Given the description of an element on the screen output the (x, y) to click on. 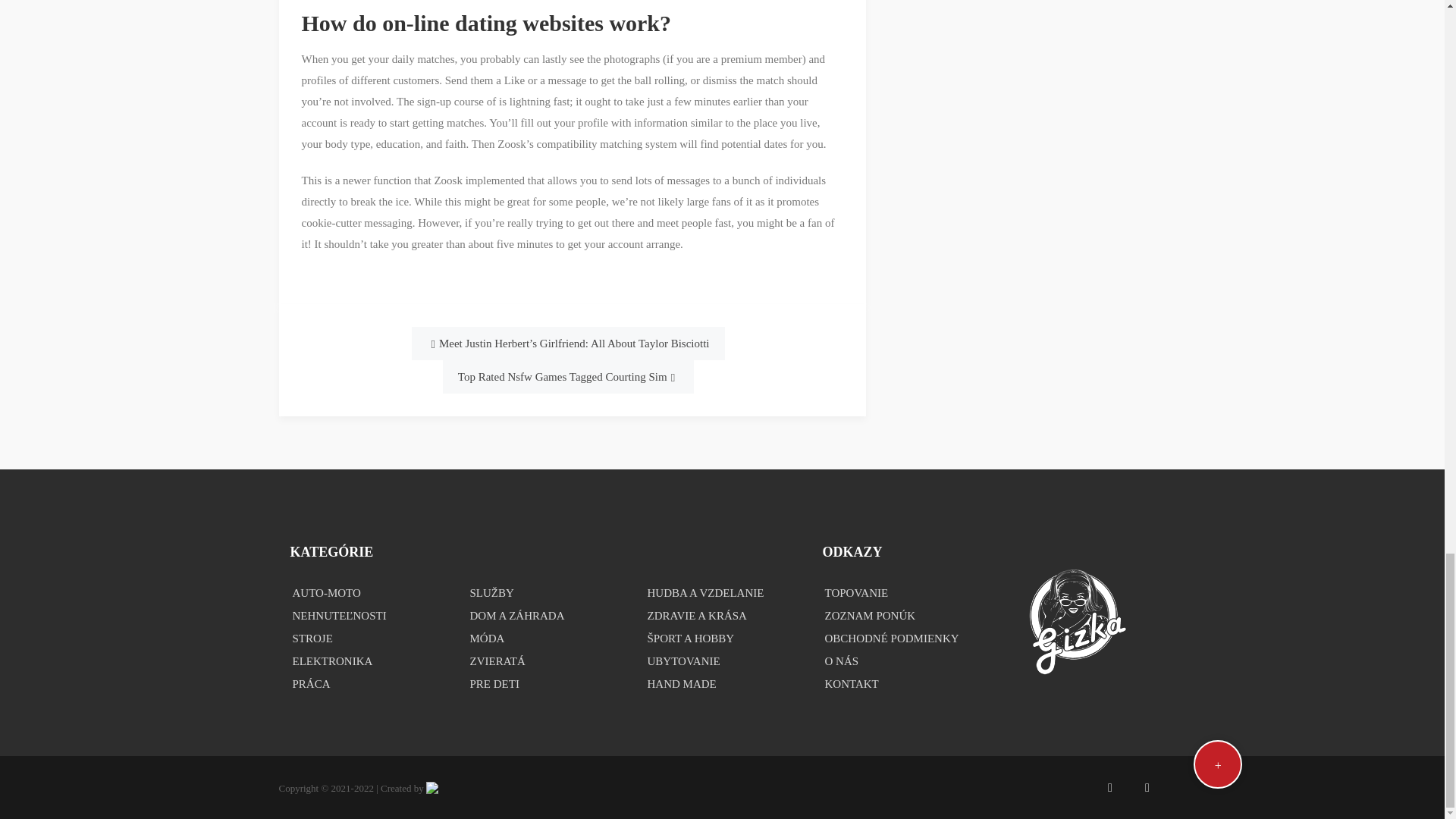
TOPOVANIE (899, 592)
AUTO-MOTO (366, 592)
ELEKTRONIKA (366, 661)
Top Rated Nsfw Games Tagged Courting Sim (568, 377)
PRE DETI (544, 683)
STROJE (366, 638)
UBYTOVANIE (722, 661)
HUDBA A VZDELANIE (722, 592)
HAND MADE (722, 683)
KONTAKT (899, 683)
